Given the description of an element on the screen output the (x, y) to click on. 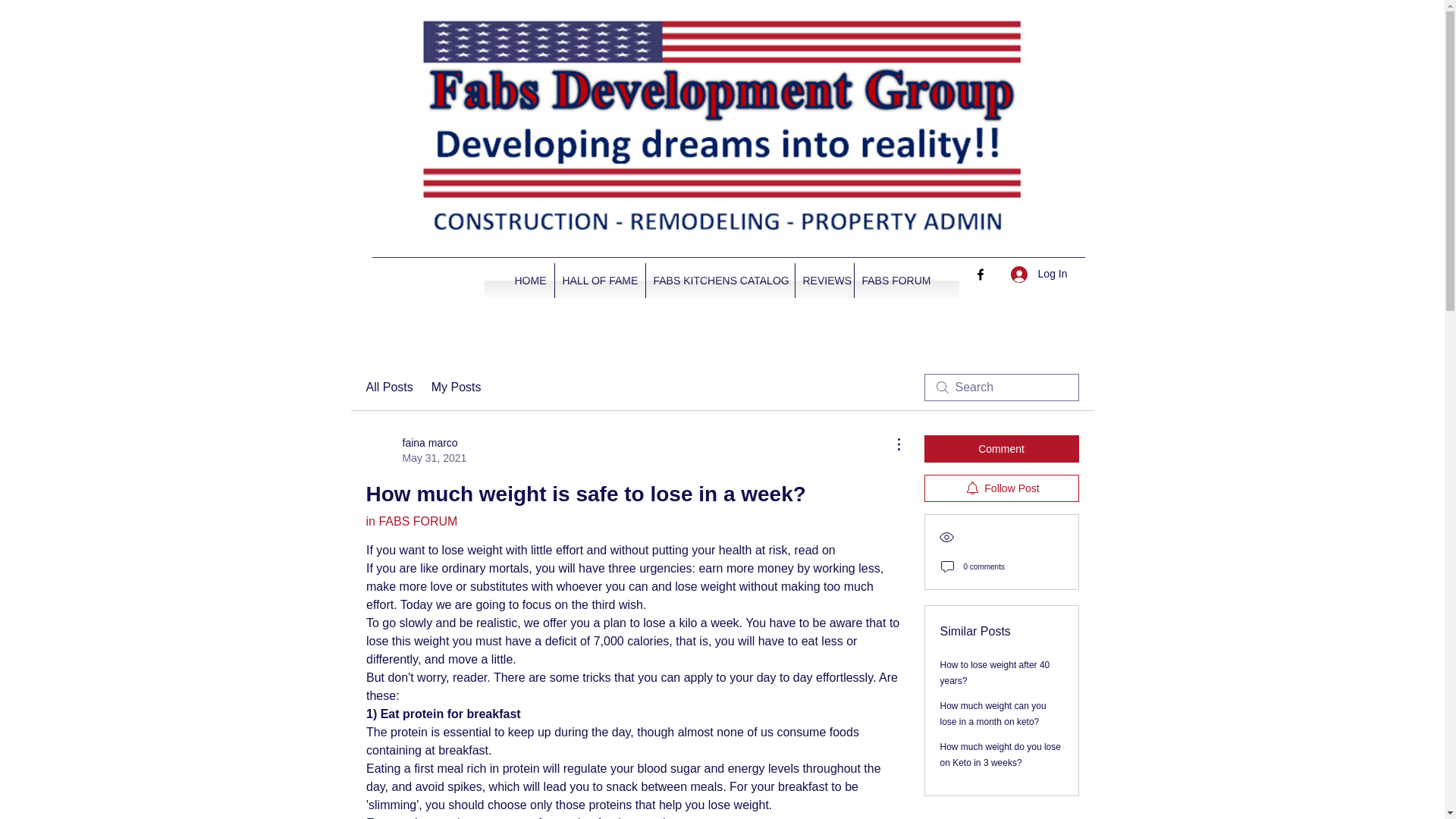
My Posts (455, 387)
Follow Post (1000, 488)
in FABS FORUM (411, 521)
HOME (529, 280)
All Posts (388, 387)
How to lose weight after 40 years? (994, 673)
FABS KITCHENS CATALOG (720, 280)
How much weight do you lose on Keto in 3 weeks? (1000, 755)
FABS FORUM (894, 280)
